Given the description of an element on the screen output the (x, y) to click on. 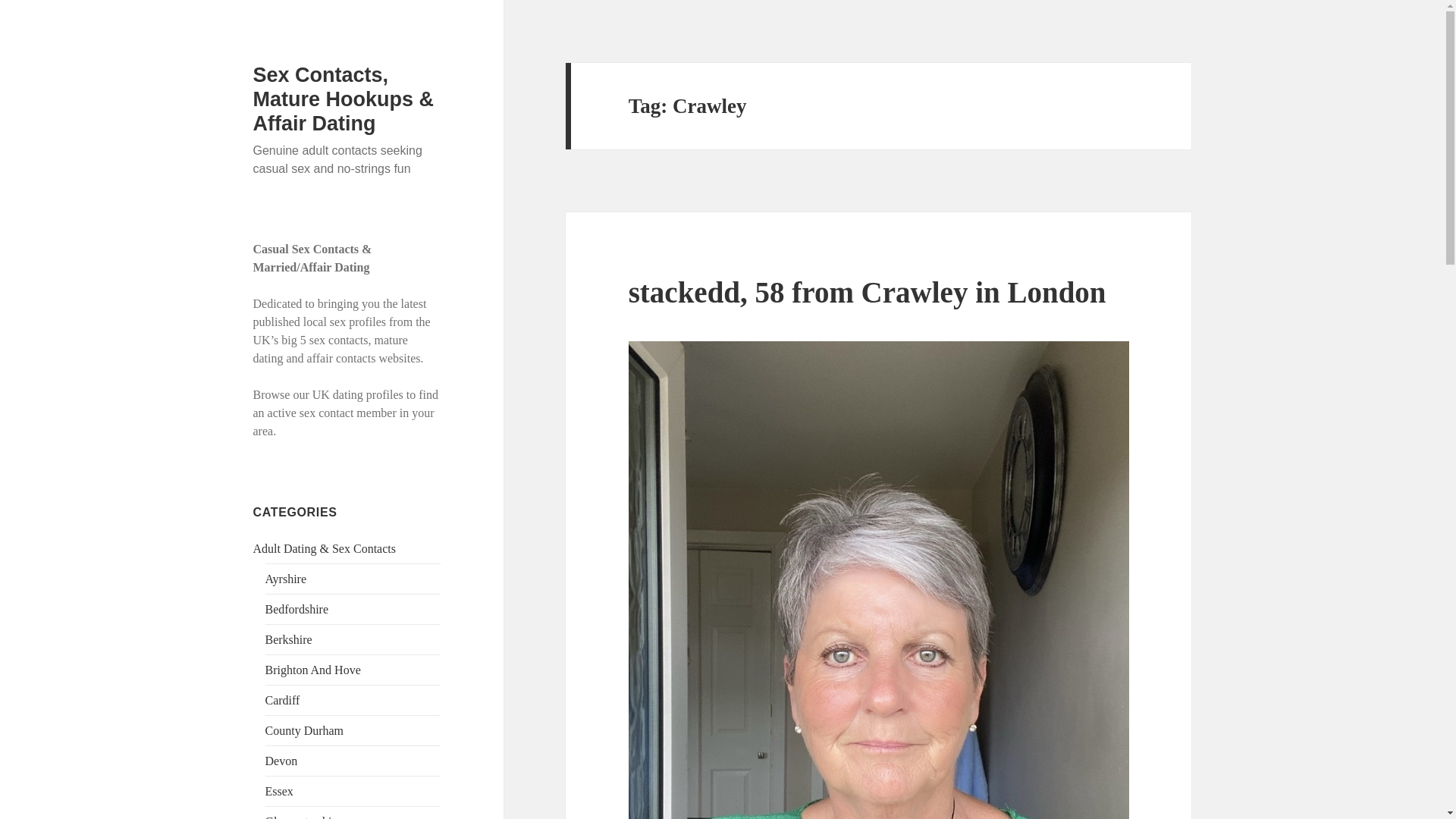
County Durham (303, 730)
Berkshire (288, 639)
Devon (281, 760)
Ayrshire (285, 578)
Essex (279, 790)
Bedfordshire (296, 608)
Cardiff (281, 699)
Brighton And Hove (312, 669)
Gloucestershire (302, 816)
